Given the description of an element on the screen output the (x, y) to click on. 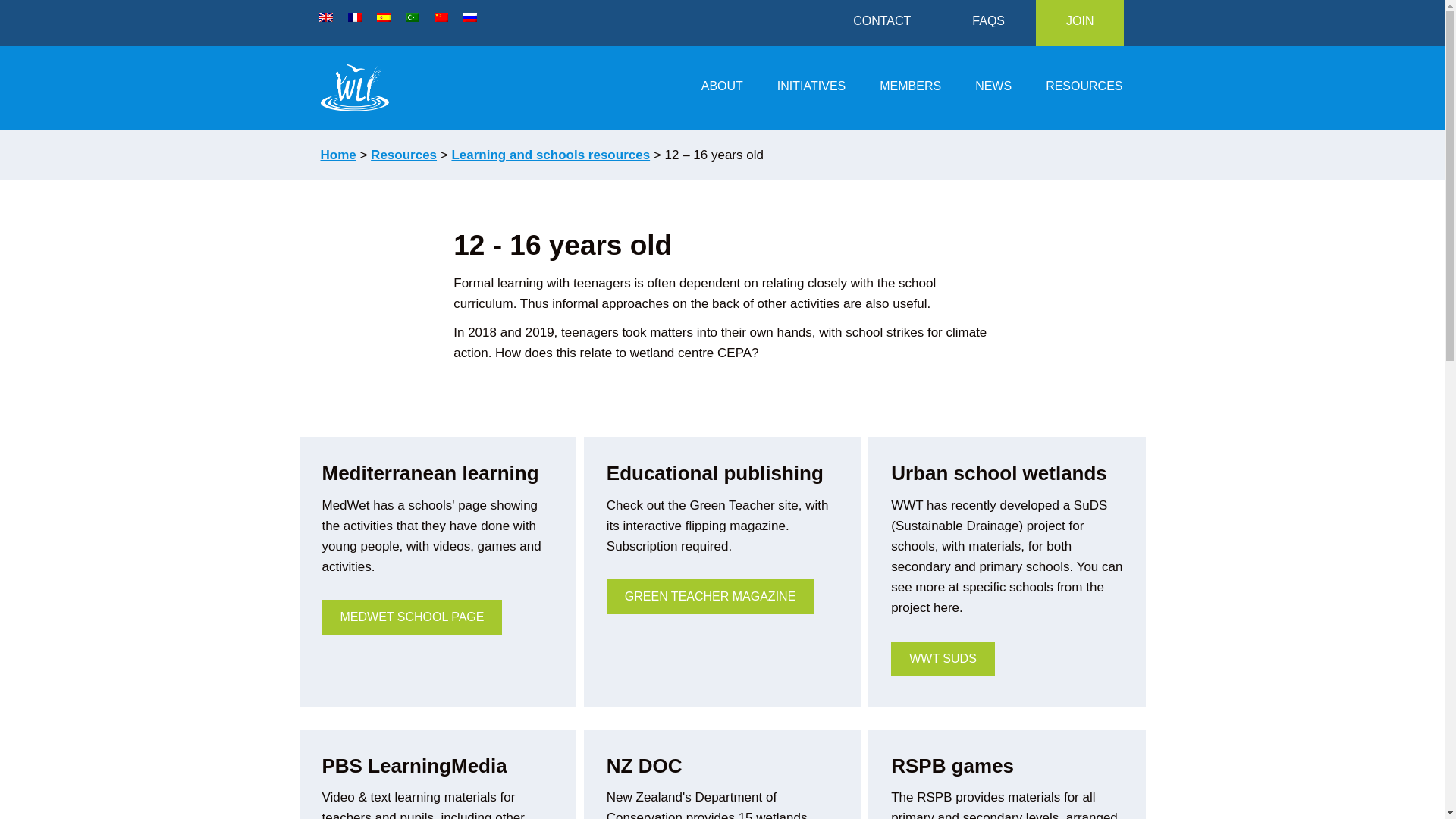
JOIN (1079, 22)
INITIATIVES (810, 87)
CONTACT (881, 22)
ABOUT (722, 87)
English (324, 17)
Go to Wetland Link International. (337, 155)
Go to Resources. (403, 155)
MEMBERS (910, 87)
RESOURCES (1083, 87)
FAQS (988, 22)
